Given the description of an element on the screen output the (x, y) to click on. 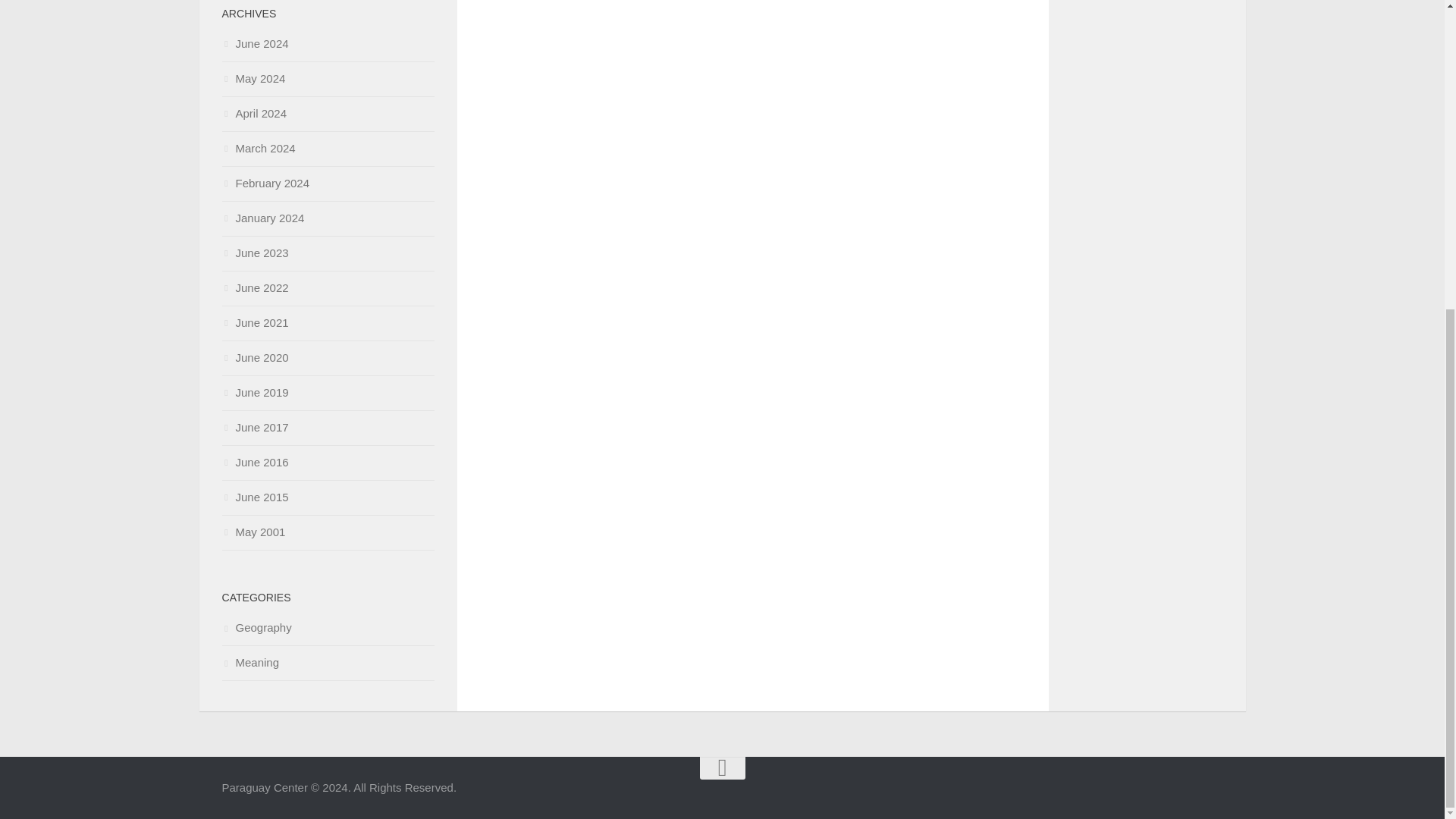
March 2024 (258, 147)
Geography (256, 626)
January 2024 (262, 217)
May 2001 (253, 531)
May 2024 (253, 78)
June 2020 (254, 357)
June 2024 (254, 42)
June 2017 (254, 427)
June 2023 (254, 252)
June 2015 (254, 496)
